Given the description of an element on the screen output the (x, y) to click on. 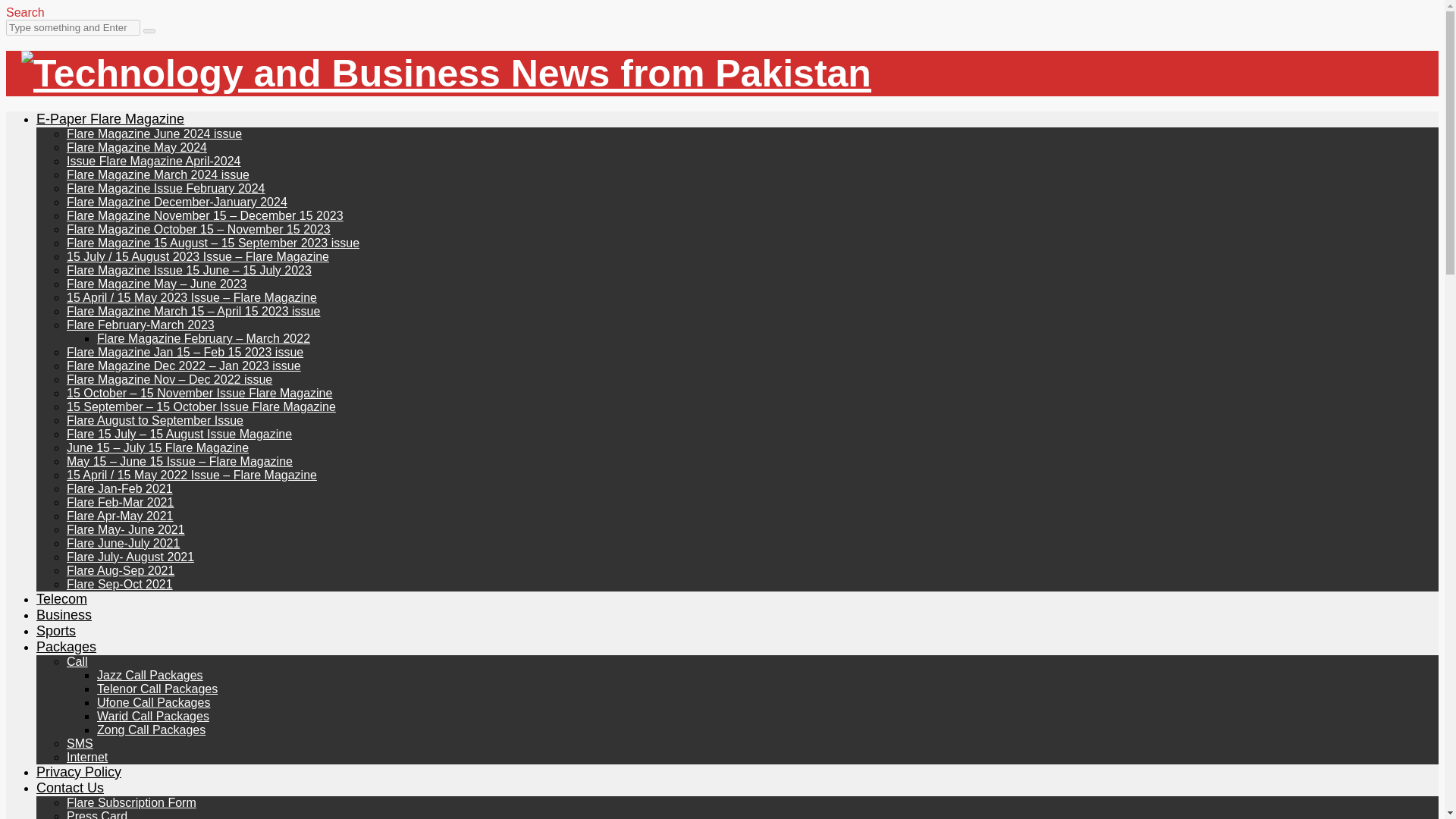
Flare Magazine June 2024 issue (153, 133)
Search (25, 11)
Flare Jan-Feb 2021 (119, 488)
Flare Magazine March 2024 issue (157, 174)
Flare August to September Issue (154, 420)
Flare June-July 2021 (122, 543)
Flare Magazine May 2024 (136, 146)
Flare Magazine Issue February 2024 (165, 187)
Issue Flare Magazine April-2024 (153, 160)
Flare Feb-Mar 2021 (119, 502)
Flare Apr-May 2021 (119, 515)
Flare February-March 2023 (140, 324)
Flare July- August 2021 (129, 556)
Technology and Business News from Pakistan (445, 73)
E-Paper Flare Magazine (110, 118)
